Given the description of an element on the screen output the (x, y) to click on. 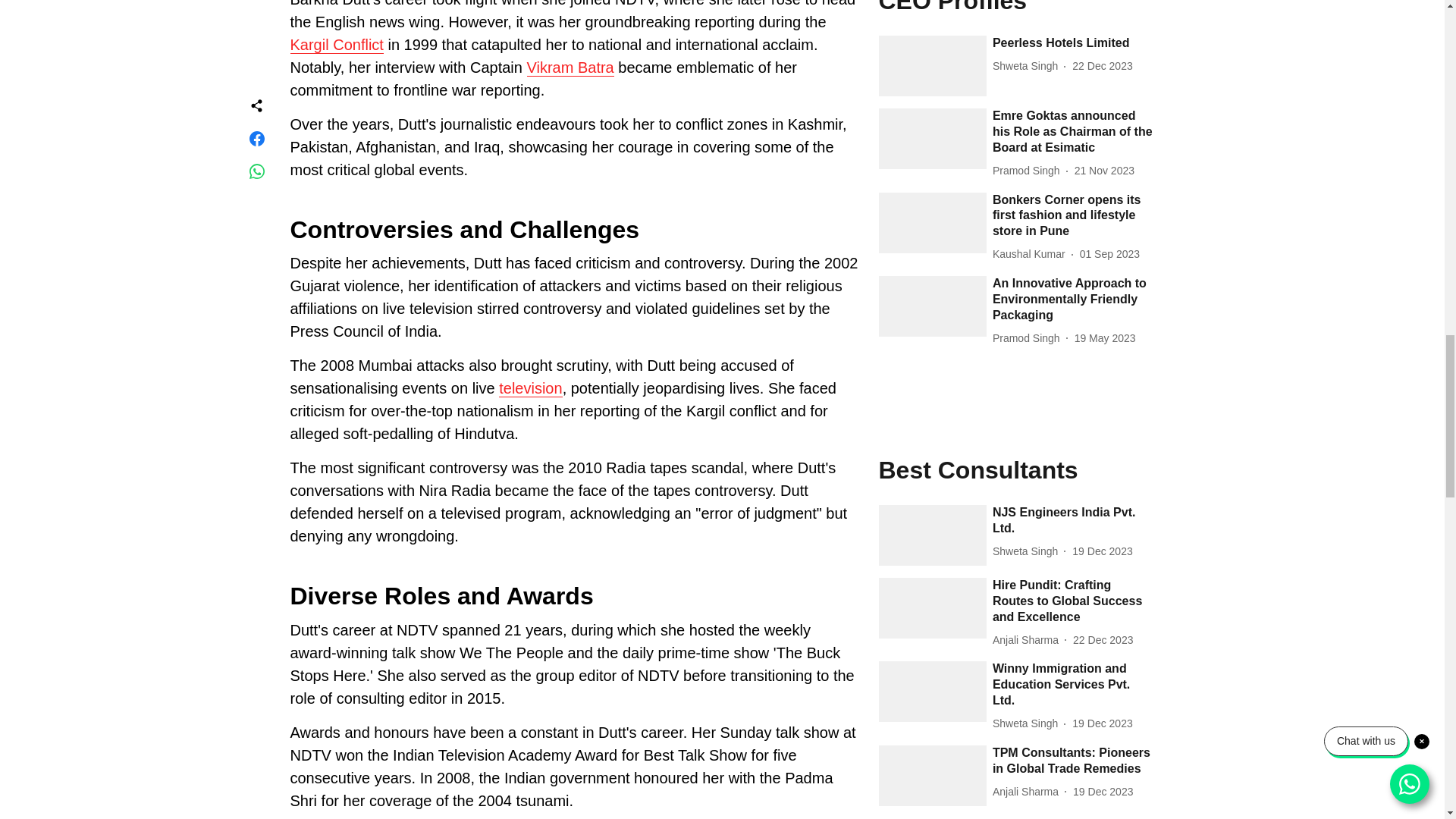
2023-12-22 09:45 (1102, 640)
2023-12-19 05:49 (1101, 723)
television (530, 388)
2023-11-21 04:38 (1104, 170)
2023-09-01 05:01 (1110, 254)
2023-05-19 12:30 (1104, 338)
2023-12-19 05:43 (1102, 791)
2023-12-19 04:57 (1101, 551)
Vikram Batra (568, 67)
Kargil Conflict (557, 56)
